Given the description of an element on the screen output the (x, y) to click on. 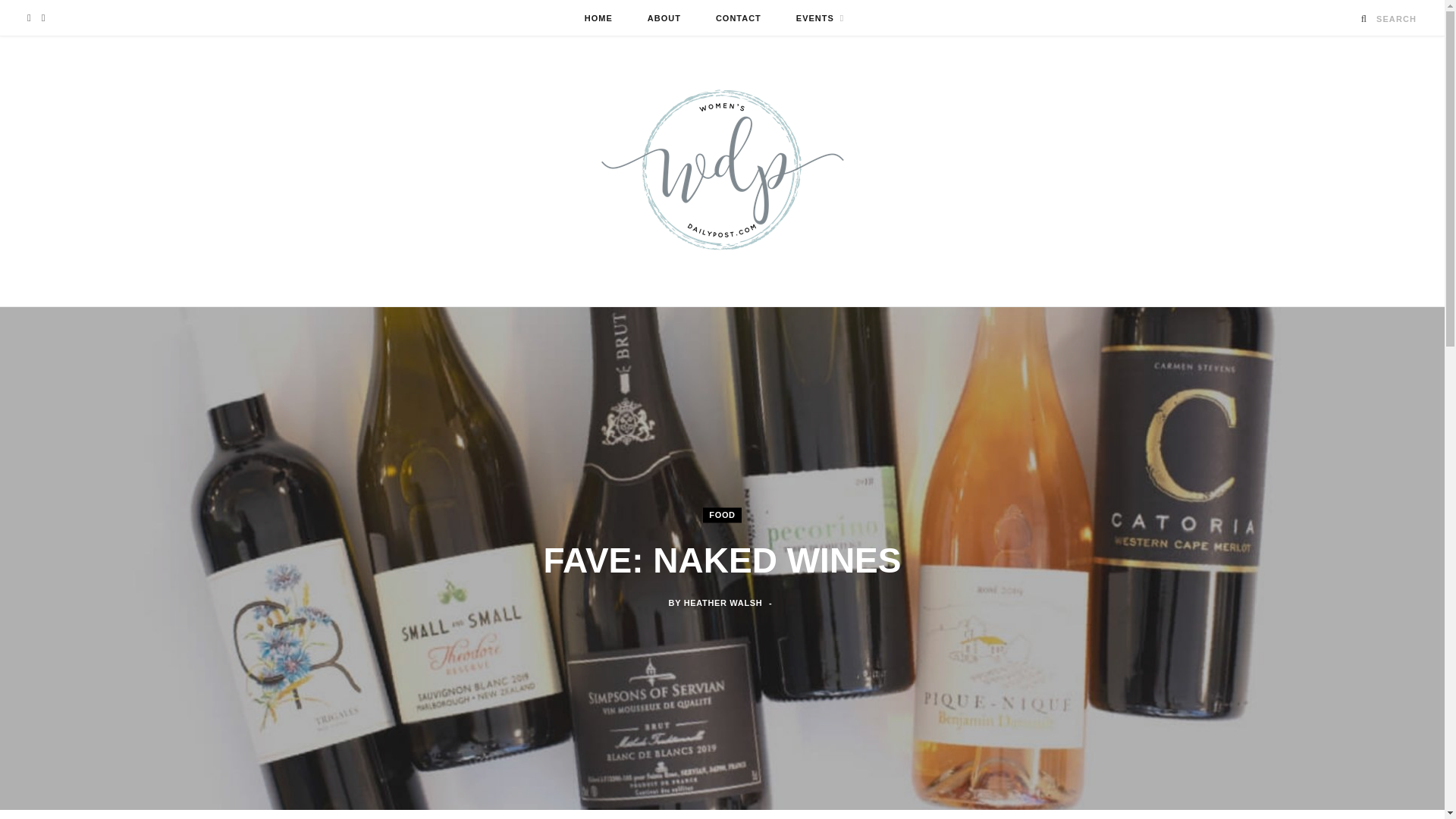
EVENTS (820, 18)
CONTACT (738, 18)
ABOUT (664, 18)
HOME (598, 18)
HEATHER WALSH (723, 603)
Posts by Heather Walsh (723, 603)
FOOD (722, 514)
Women's Daily Post (721, 171)
